Given the description of an element on the screen output the (x, y) to click on. 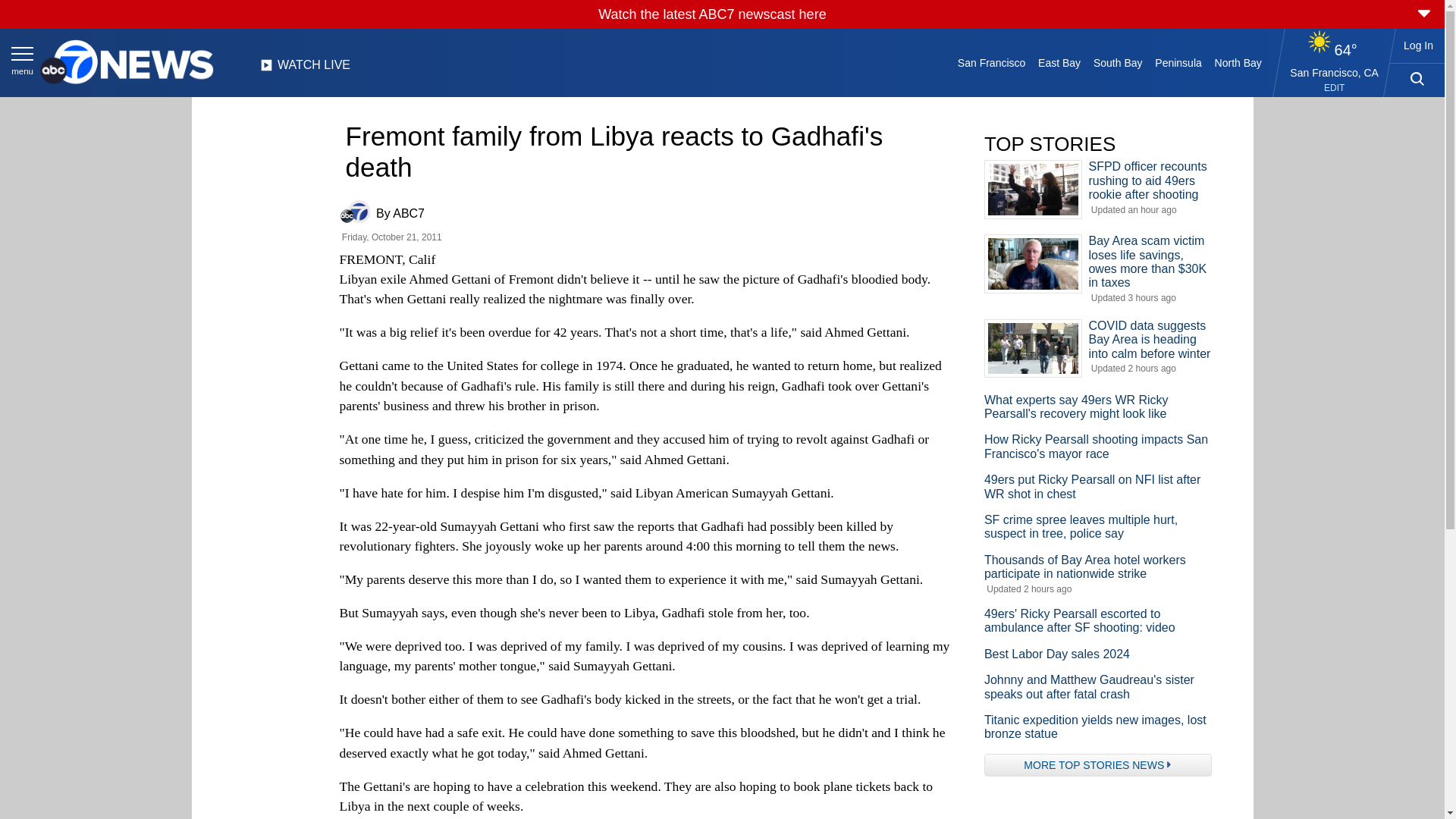
Peninsula (1178, 62)
San Francisco (990, 62)
EDIT (1333, 87)
WATCH LIVE (305, 69)
North Bay (1238, 62)
San Francisco, CA (1334, 72)
South Bay (1117, 62)
East Bay (1059, 62)
